Given the description of an element on the screen output the (x, y) to click on. 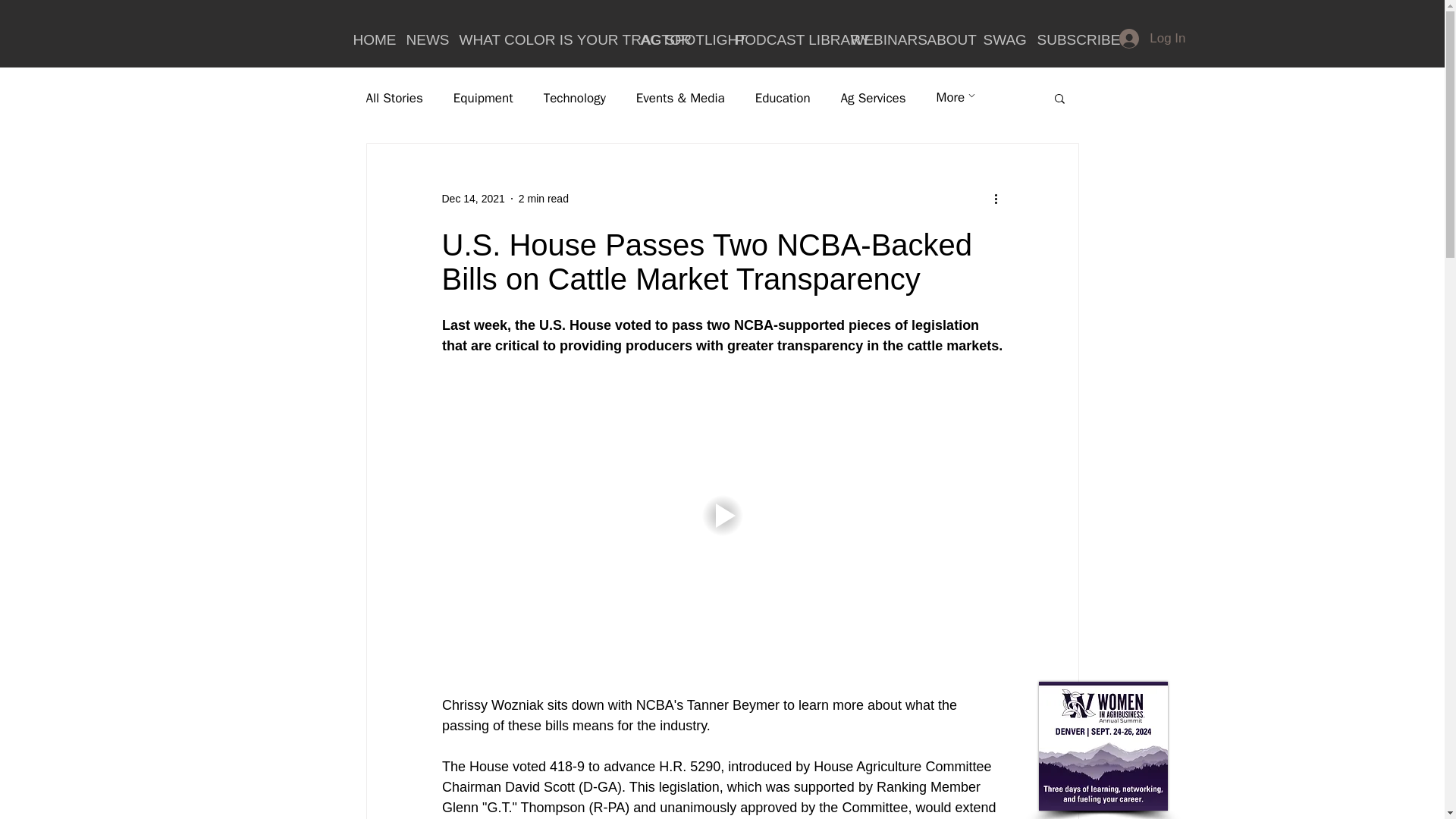
WEBINARS (876, 38)
HOME (367, 38)
NEWS (420, 38)
Dec 14, 2021 (472, 198)
2 min read (543, 198)
Education (782, 98)
PODCAST LIBRARY (780, 38)
Technology (574, 98)
WHAT COLOR IS YOUR TRACTOR (537, 38)
AG SPOTLIGHT (675, 38)
